Given the description of an element on the screen output the (x, y) to click on. 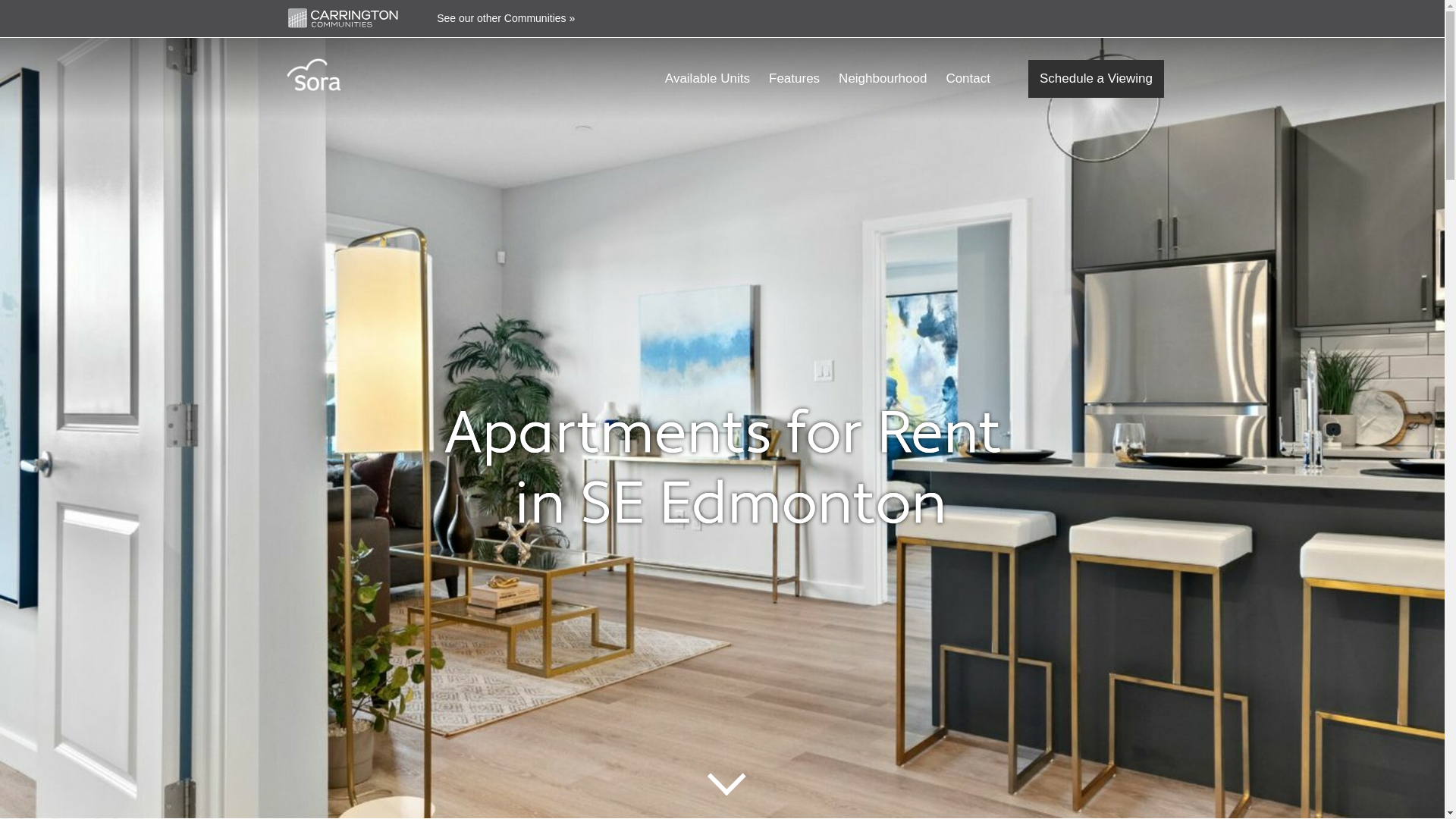
Neighbourhood (882, 78)
Available Units (707, 78)
Features (793, 78)
Back to Carrington Communities (342, 17)
Schedule a Viewing (1095, 77)
Contact (967, 78)
See our other communities (505, 18)
Schedule a Viewing (1095, 77)
